Given the description of an element on the screen output the (x, y) to click on. 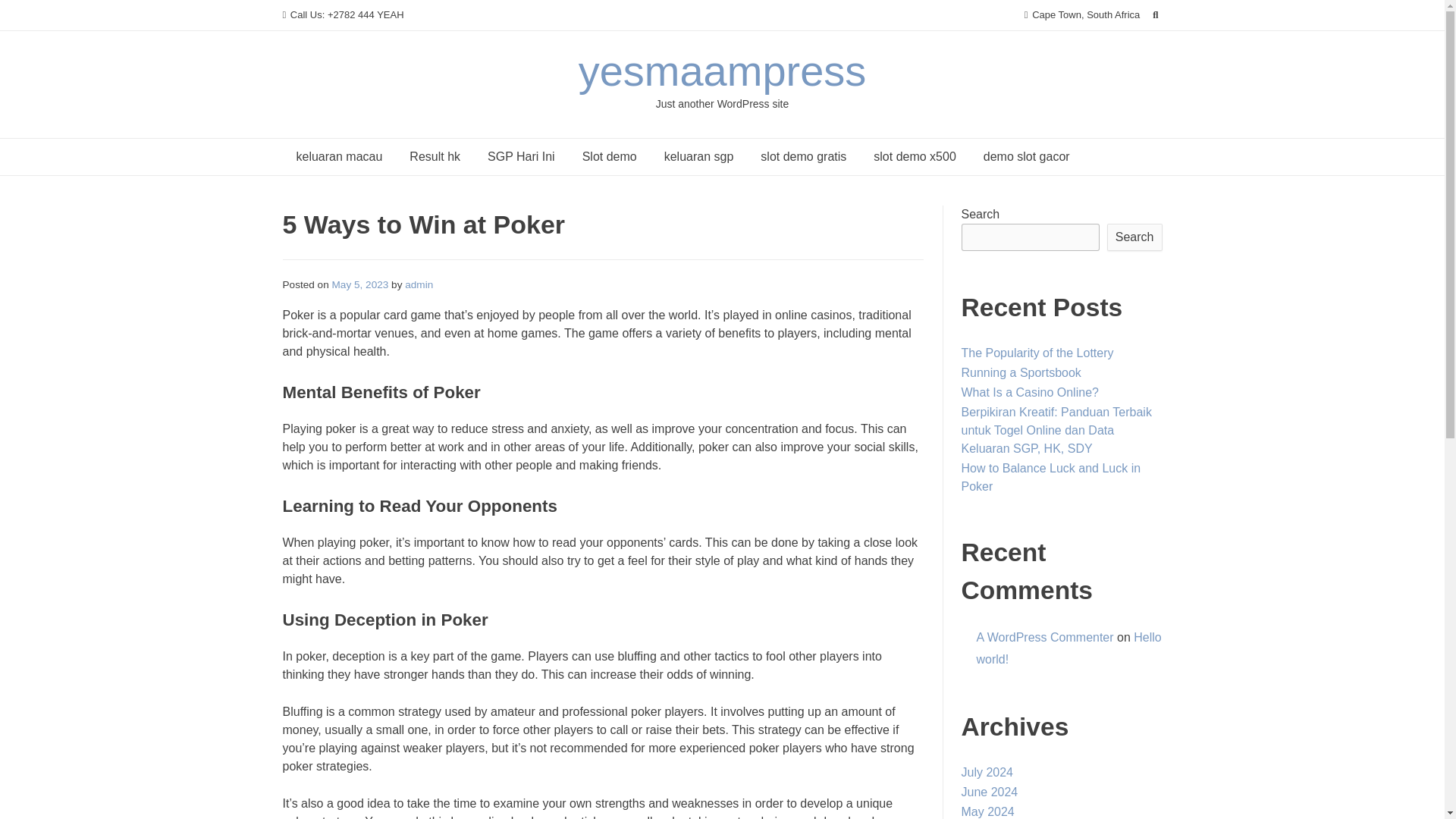
yesmaampress (722, 70)
Result hk (435, 156)
May 2024 (987, 811)
slot demo x500 (914, 156)
keluaran macau (339, 156)
Slot demo (609, 156)
Hello world! (1068, 647)
June 2024 (988, 791)
What Is a Casino Online? (1029, 391)
Search (1133, 236)
SGP Hari Ini (521, 156)
July 2024 (986, 771)
keluaran sgp (699, 156)
admin (418, 284)
